Given the description of an element on the screen output the (x, y) to click on. 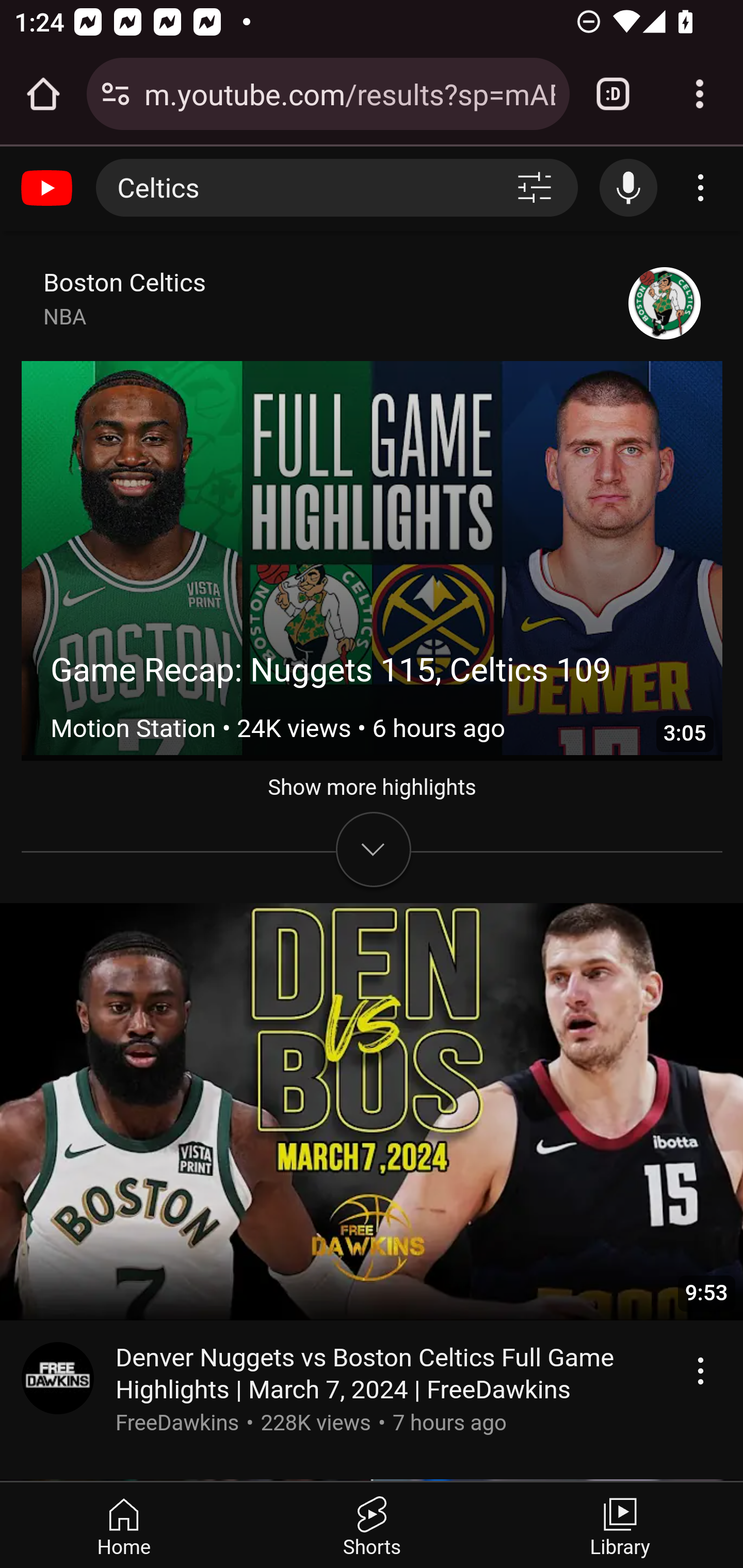
Open the home page (43, 93)
Connection is secure (115, 93)
Switch or close tabs (612, 93)
Customize and control Google Chrome (699, 93)
m.youtube.com/results?sp=mAEA&search_query=Celtics (349, 92)
YouTube (48, 188)
Celtics (292, 188)
Search filters (534, 188)
Account (700, 188)
Search with your voice (629, 187)
Boston Celtics NBA Boston Celtics NBA (125, 299)
Show more highlights (372, 813)
Action menu (700, 1370)
Go to channel (58, 1380)
Home (124, 1524)
Shorts (371, 1524)
Library (618, 1524)
